Given the description of an element on the screen output the (x, y) to click on. 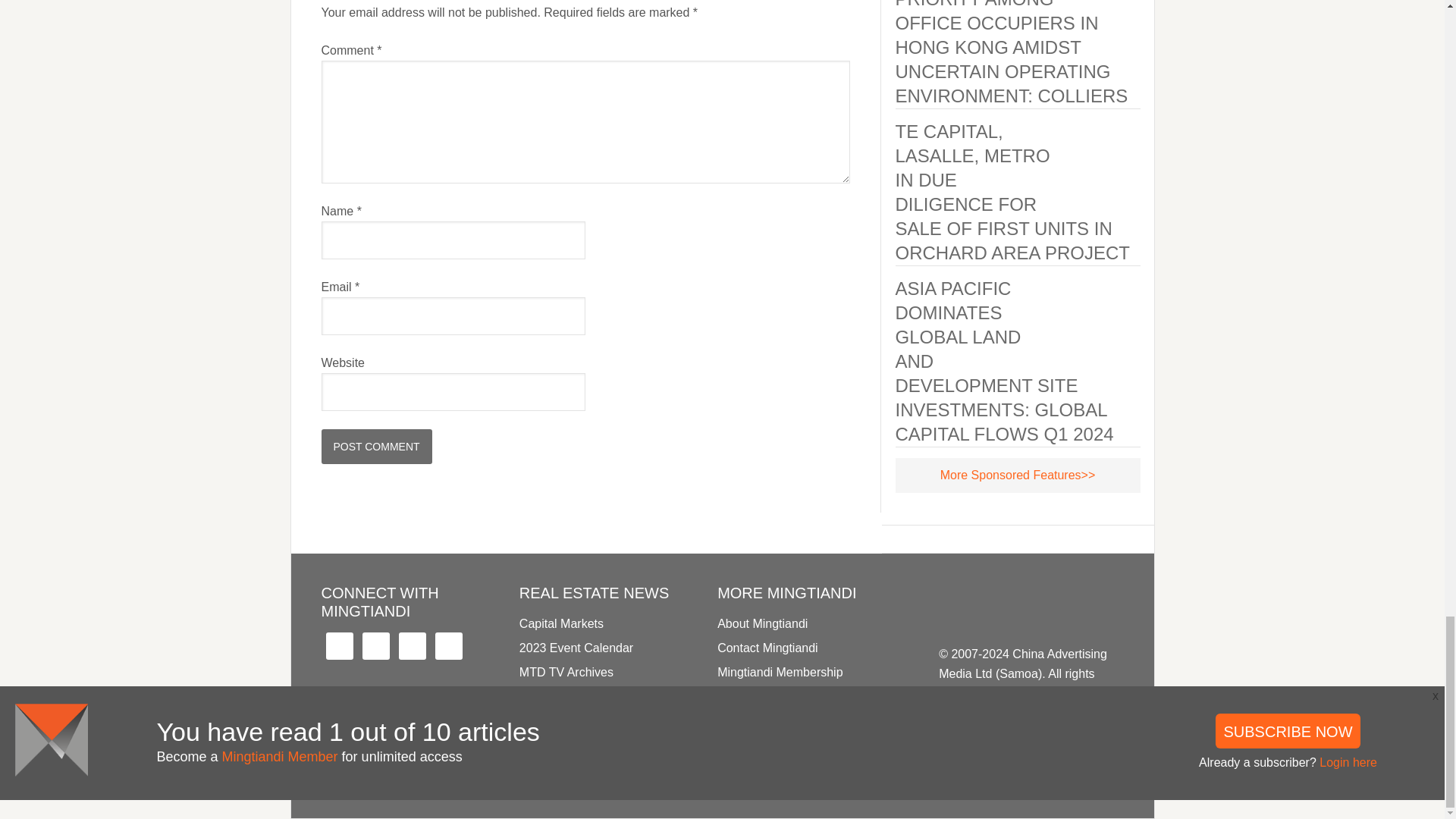
Post Comment (376, 446)
